Given the description of an element on the screen output the (x, y) to click on. 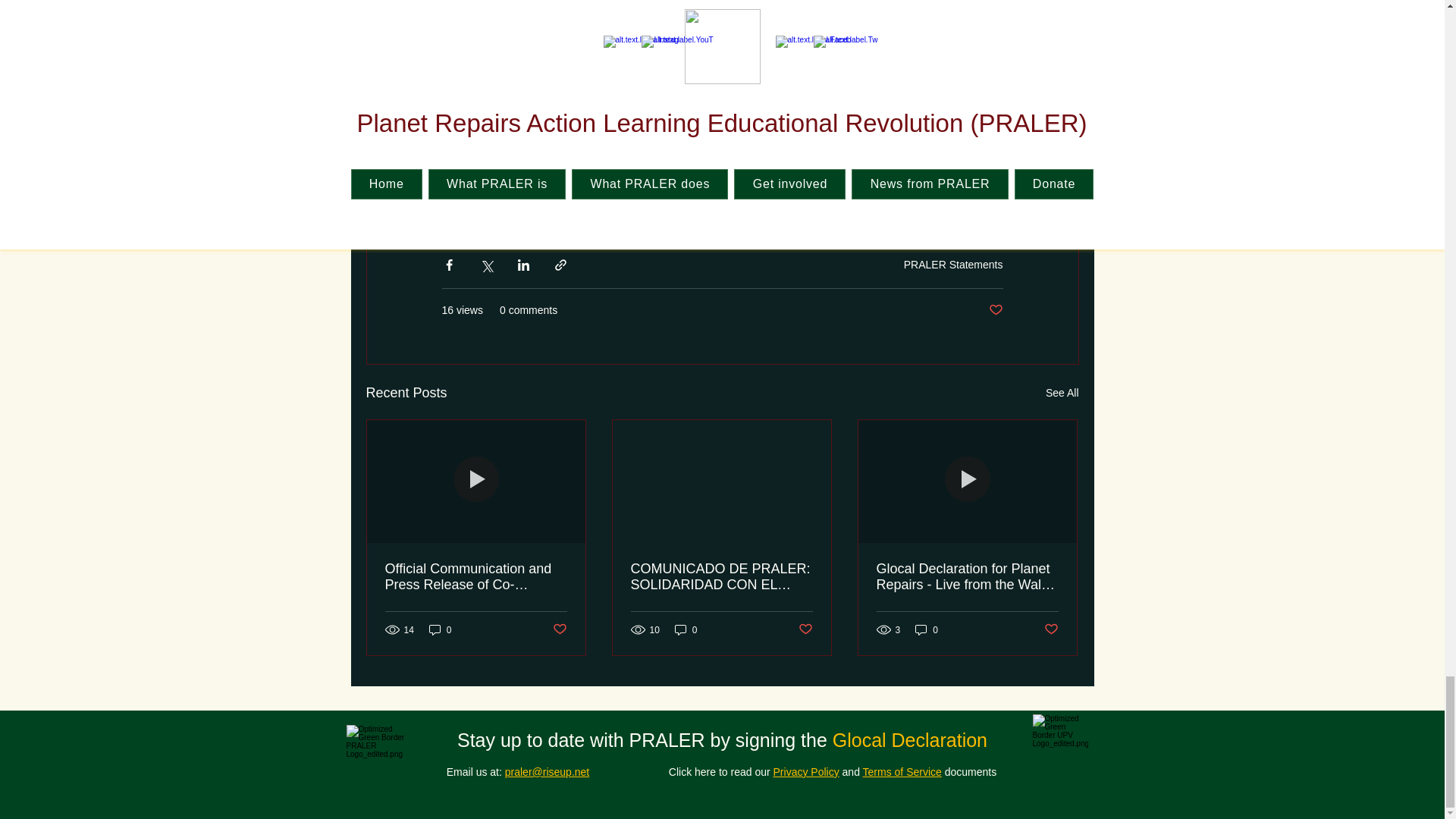
0 (440, 629)
See All (1061, 393)
PRALER Statements (953, 264)
COMUNICADO DE PRALER: SOLIDARIDAD CON EL PUEBLO PERUANO (721, 576)
Post not marked as liked (995, 310)
Post not marked as liked (558, 629)
